Given the description of an element on the screen output the (x, y) to click on. 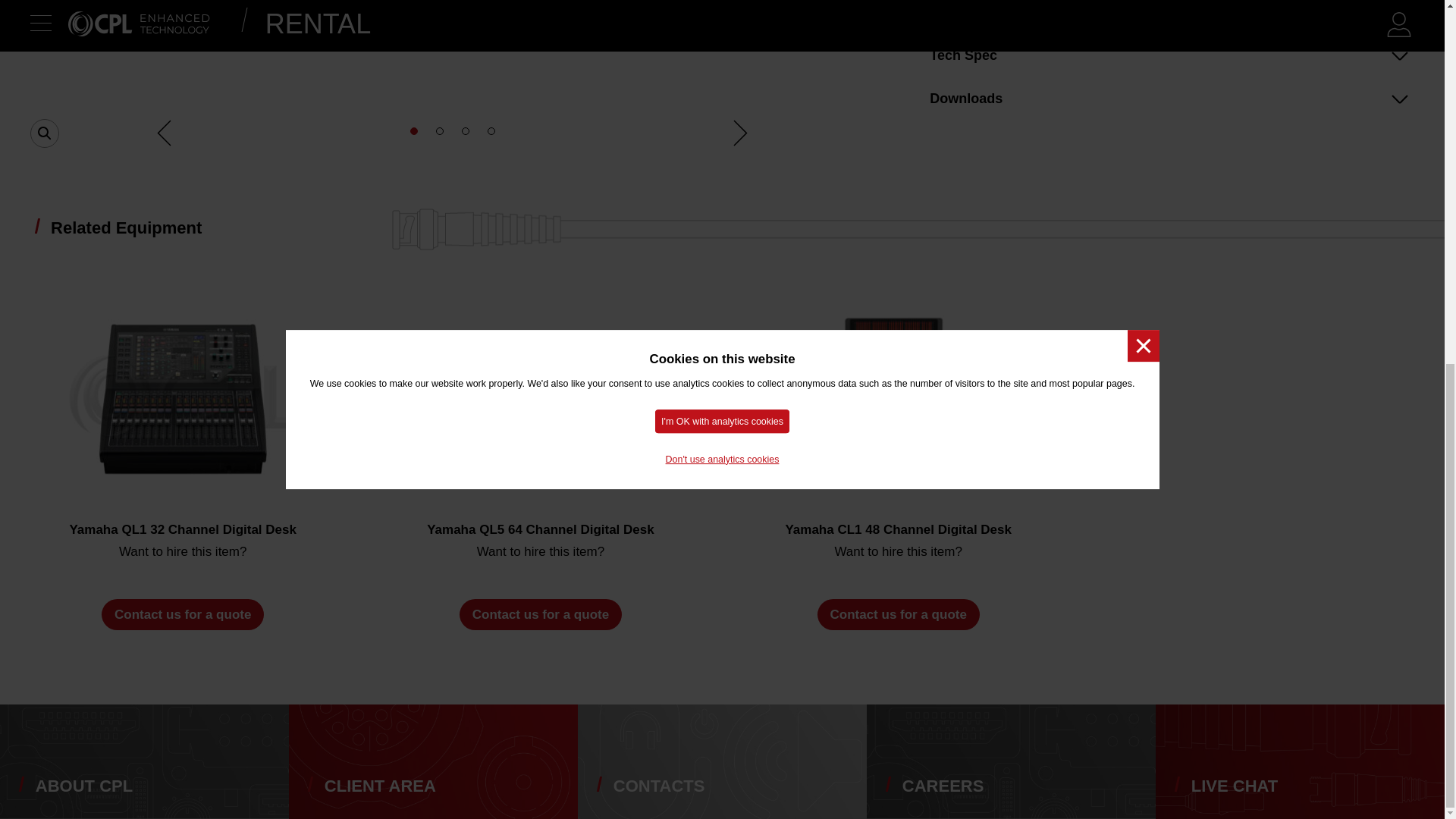
2 (439, 131)
3 (464, 131)
1 (413, 131)
4 (491, 131)
Main (452, 58)
